Given the description of an element on the screen output the (x, y) to click on. 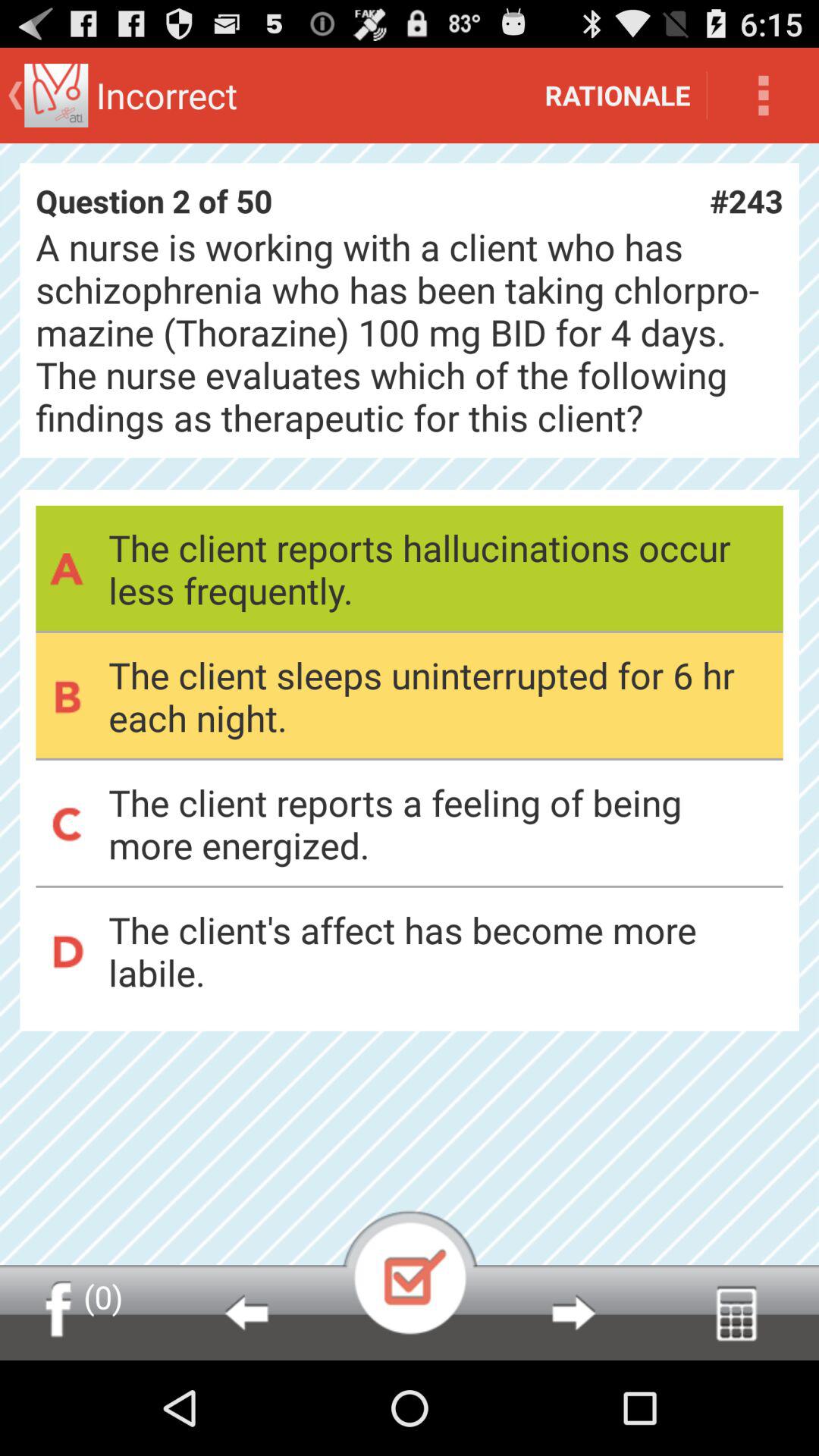
go to next page (573, 1312)
